Given the description of an element on the screen output the (x, y) to click on. 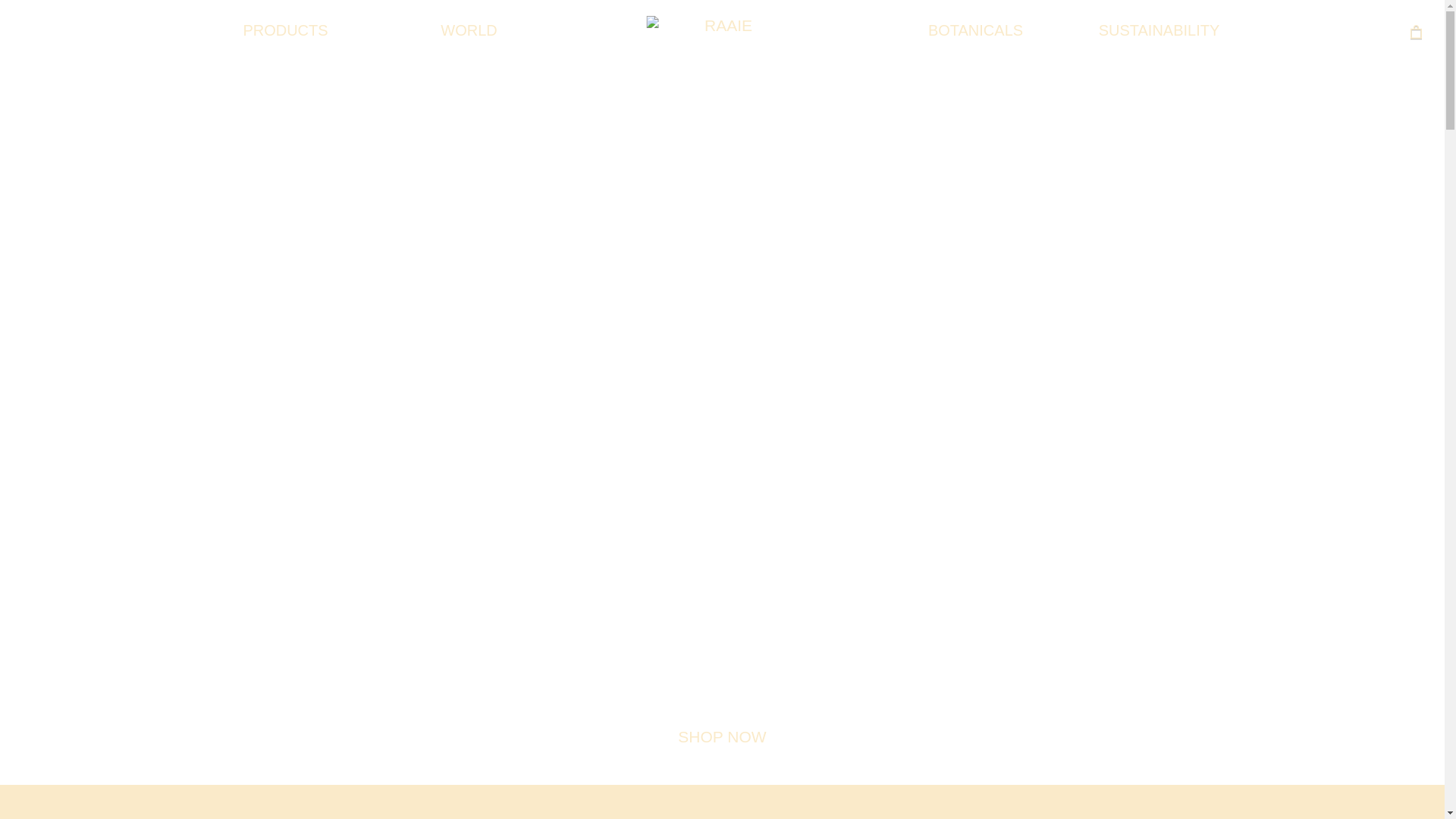
PRODUCTS Element type: text (284, 29)
SHOP NOW Element type: text (722, 737)
WORLD Element type: text (468, 29)
SUSTAINABILITY Element type: text (1159, 29)
BOTANICALS Element type: text (975, 29)
0 Element type: text (1415, 30)
